Given the description of an element on the screen output the (x, y) to click on. 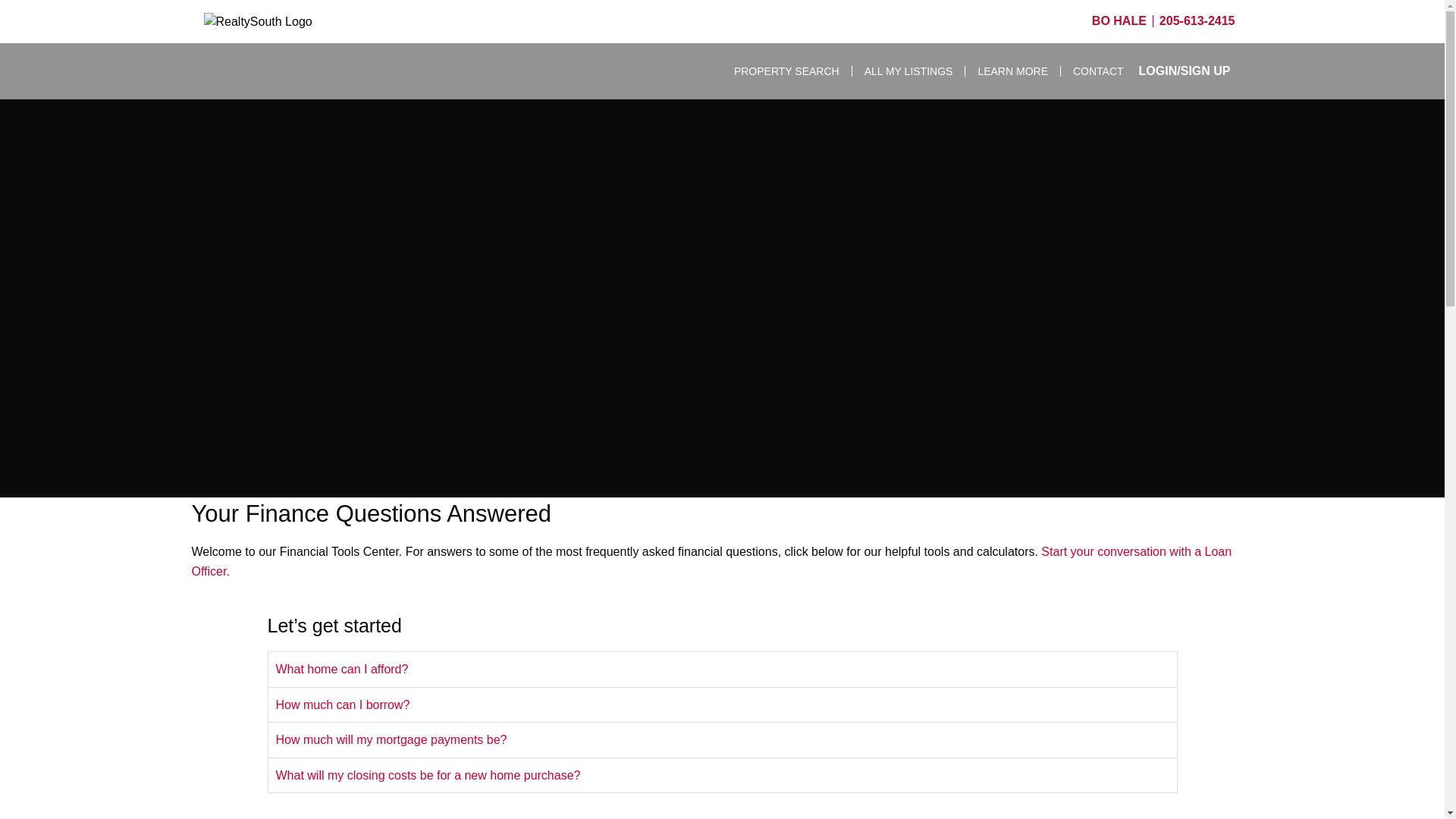
ALL MY LISTINGS (908, 71)
PROPERTY SEARCH (786, 71)
What will my closing costs be for a new home purchase? (721, 775)
RealtySouth Logo (284, 22)
205-613-2415 (1196, 20)
What home can I afford? (721, 669)
How much will my mortgage payments be? (721, 739)
CONTACT (1092, 71)
Start your conversation with a Loan Officer. (710, 561)
How much can I borrow? (721, 704)
